Given the description of an element on the screen output the (x, y) to click on. 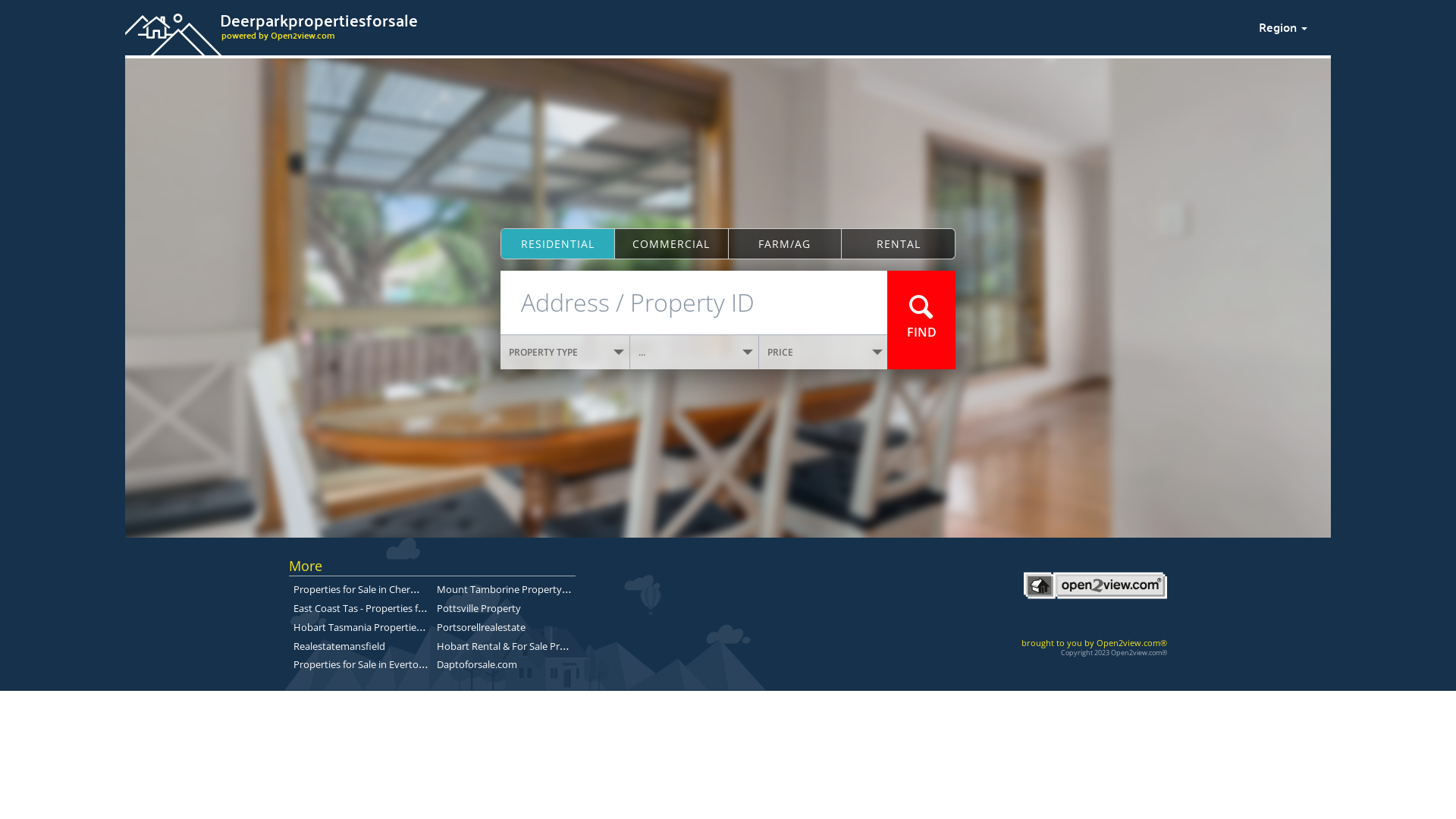
Properties for Sale in Everton Park Element type: text (370, 663)
PROPERTY TYPE Element type: text (565, 352)
Pottsville Property Element type: text (478, 608)
... Element type: text (694, 352)
East Coast Tas - Properties for sale Element type: text (370, 607)
Mount Tamborine Property for Sale Element type: text (516, 588)
Properties for Sale in Chermside Element type: text (365, 588)
PRICE Element type: text (823, 352)
Daptoforsale.com Element type: text (476, 664)
Deerparkpropertiesforsale
powered by Open2view.com Element type: text (682, 25)
Realestatemansfield Element type: text (339, 645)
Hobart Tasmania Properties for sale Element type: text (374, 626)
Hobart Rental & For Sale Property Listings Element type: text (531, 645)
Portsorellrealestate Element type: text (480, 626)
